Given the description of an element on the screen output the (x, y) to click on. 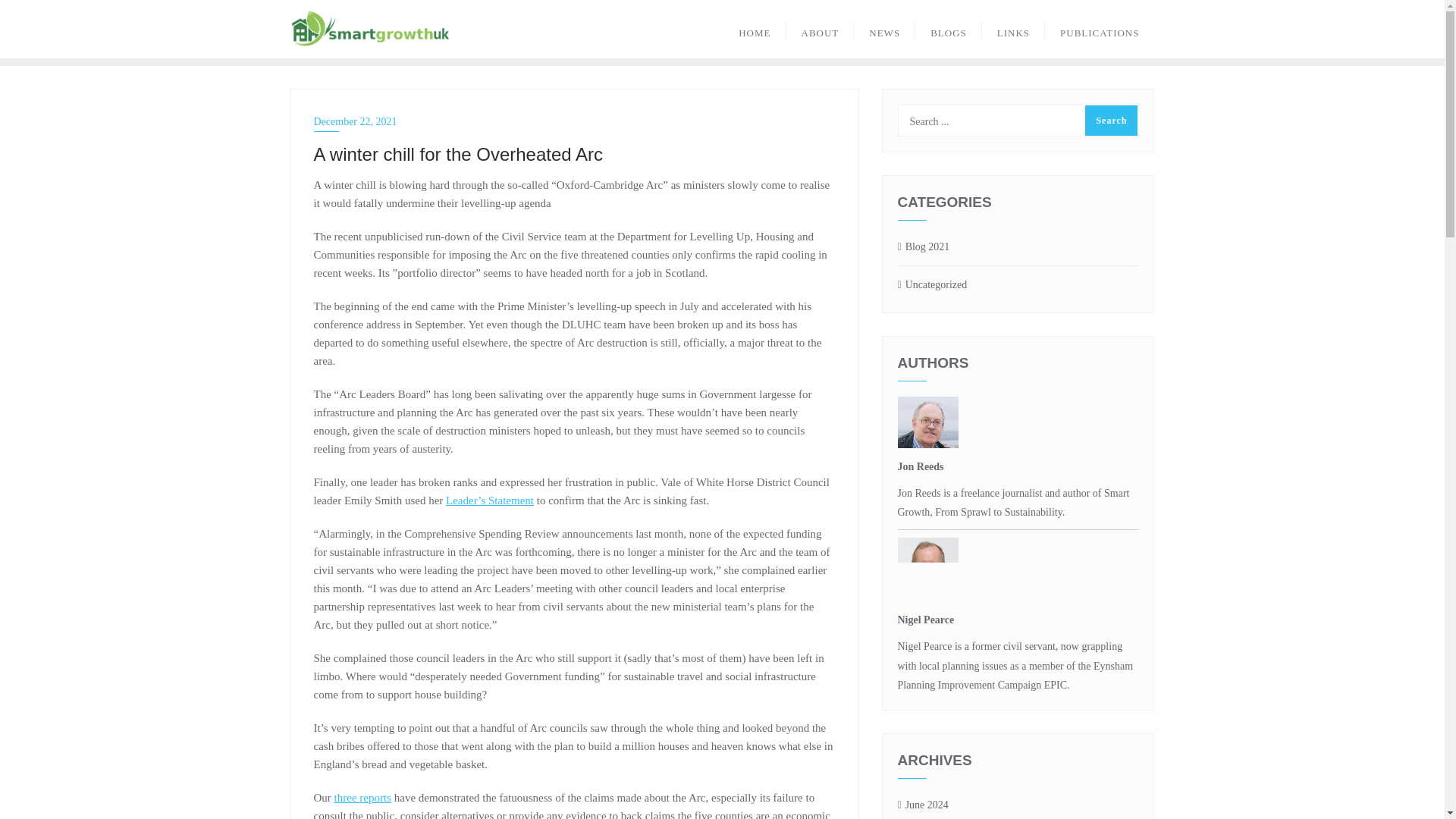
PUBLICATIONS (1099, 29)
Blog 2021 (924, 247)
LINKS (1013, 29)
NEWS (884, 29)
June 2024 (923, 805)
Uncategorized (933, 285)
Search (1110, 120)
HOME (754, 29)
three reports (362, 797)
Search (1110, 120)
ABOUT (819, 29)
Search (1110, 120)
BLOGS (948, 29)
December 22, 2021 (574, 121)
